Given the description of an element on the screen output the (x, y) to click on. 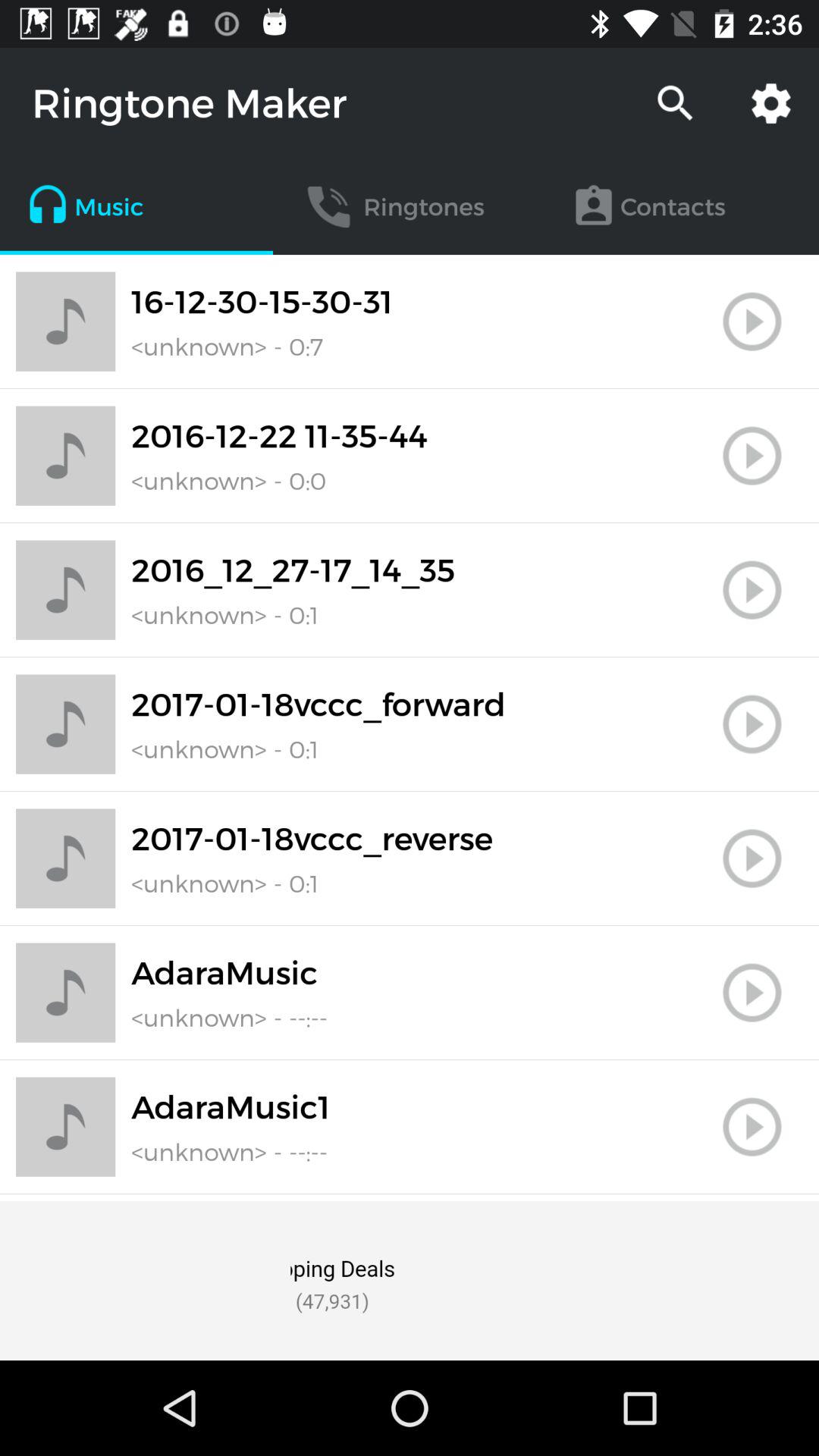
select the play button (752, 455)
